Given the description of an element on the screen output the (x, y) to click on. 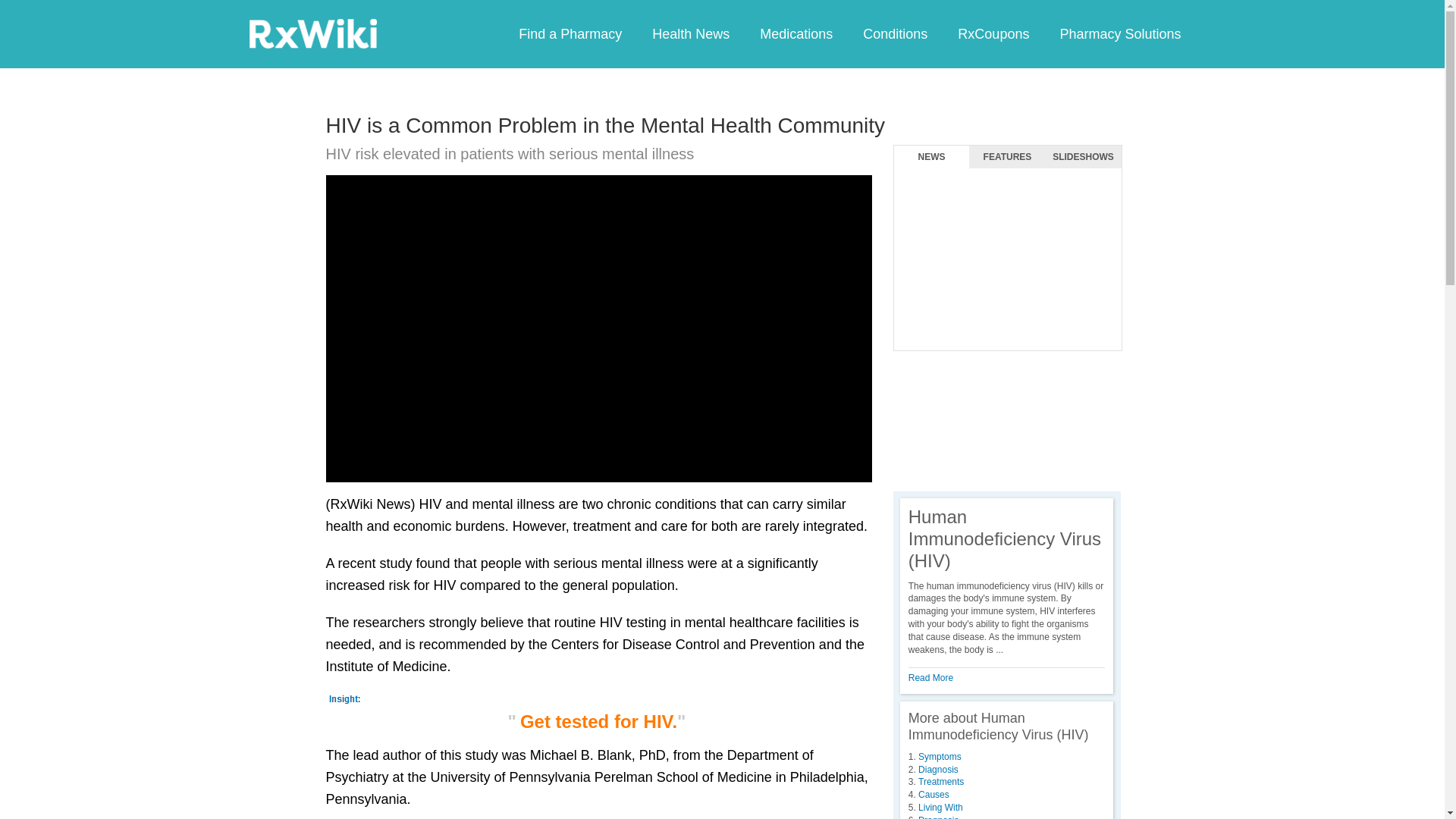
FEATURES (1007, 156)
RxWiki (312, 32)
SLIDESHOWS (1083, 156)
Health News (690, 33)
NEWS (931, 156)
Read More (930, 677)
Conditions (894, 33)
Find a Pharmacy (570, 33)
Medications (795, 33)
RxCoupons (992, 33)
